Given the description of an element on the screen output the (x, y) to click on. 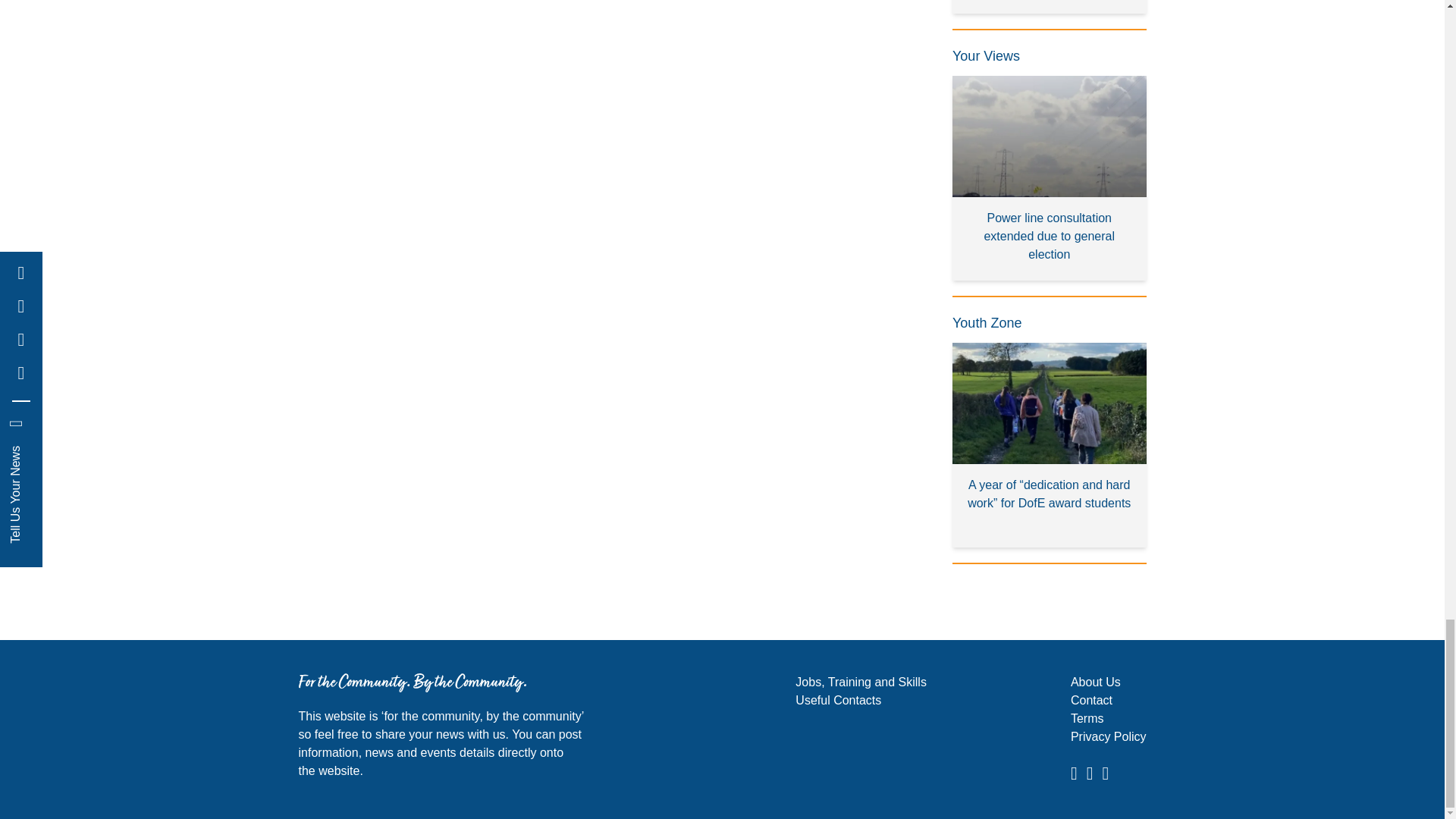
Jobs, Training and Skills (860, 681)
Useful Contacts (837, 699)
Power line consultation extended due to general election (1049, 178)
New school records at annual sports day (1049, 6)
